Given the description of an element on the screen output the (x, y) to click on. 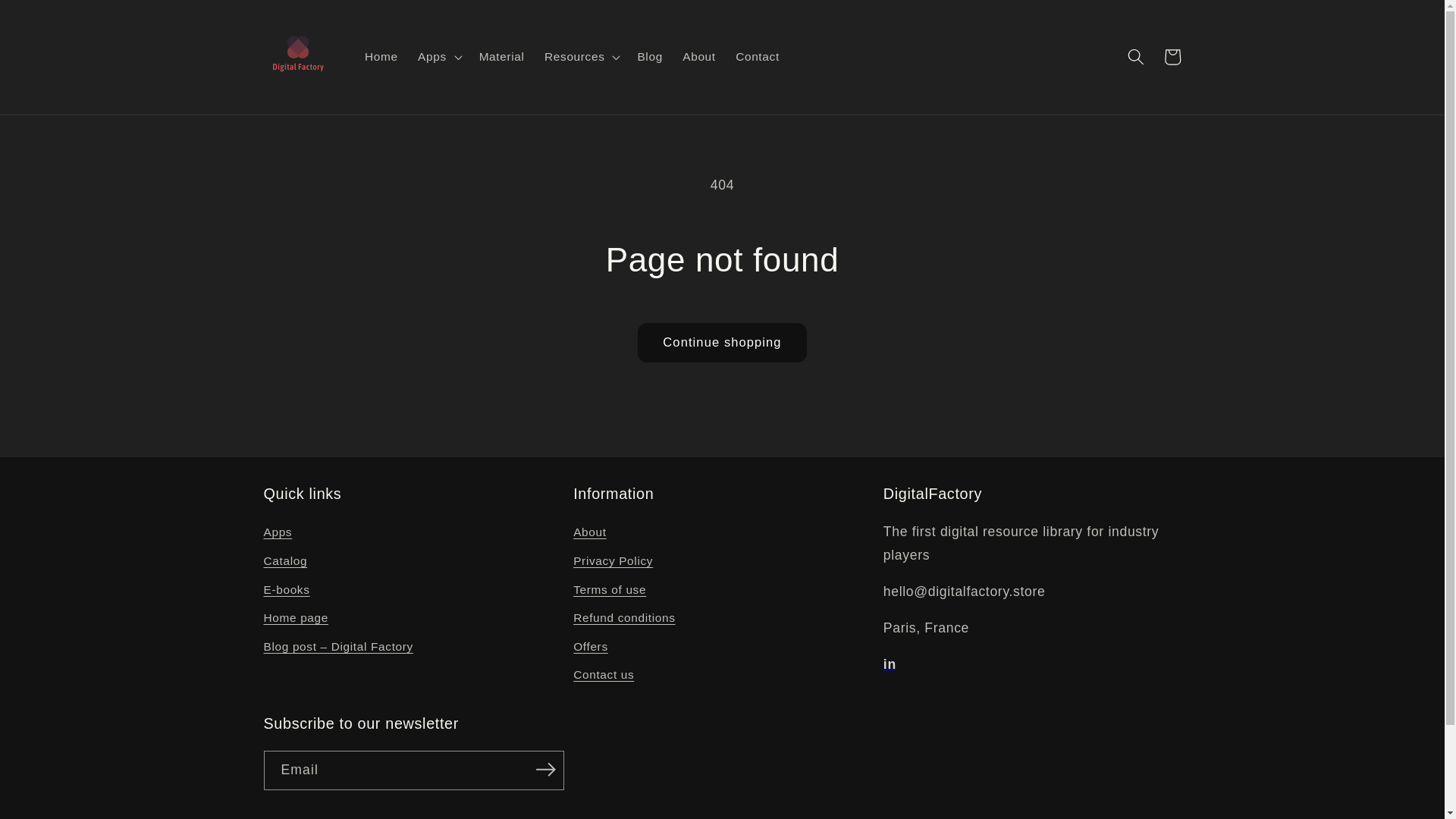
Blog (649, 56)
Contact (757, 56)
Skip to content (50, 19)
Home (381, 56)
Material (501, 56)
About (698, 56)
